Given the description of an element on the screen output the (x, y) to click on. 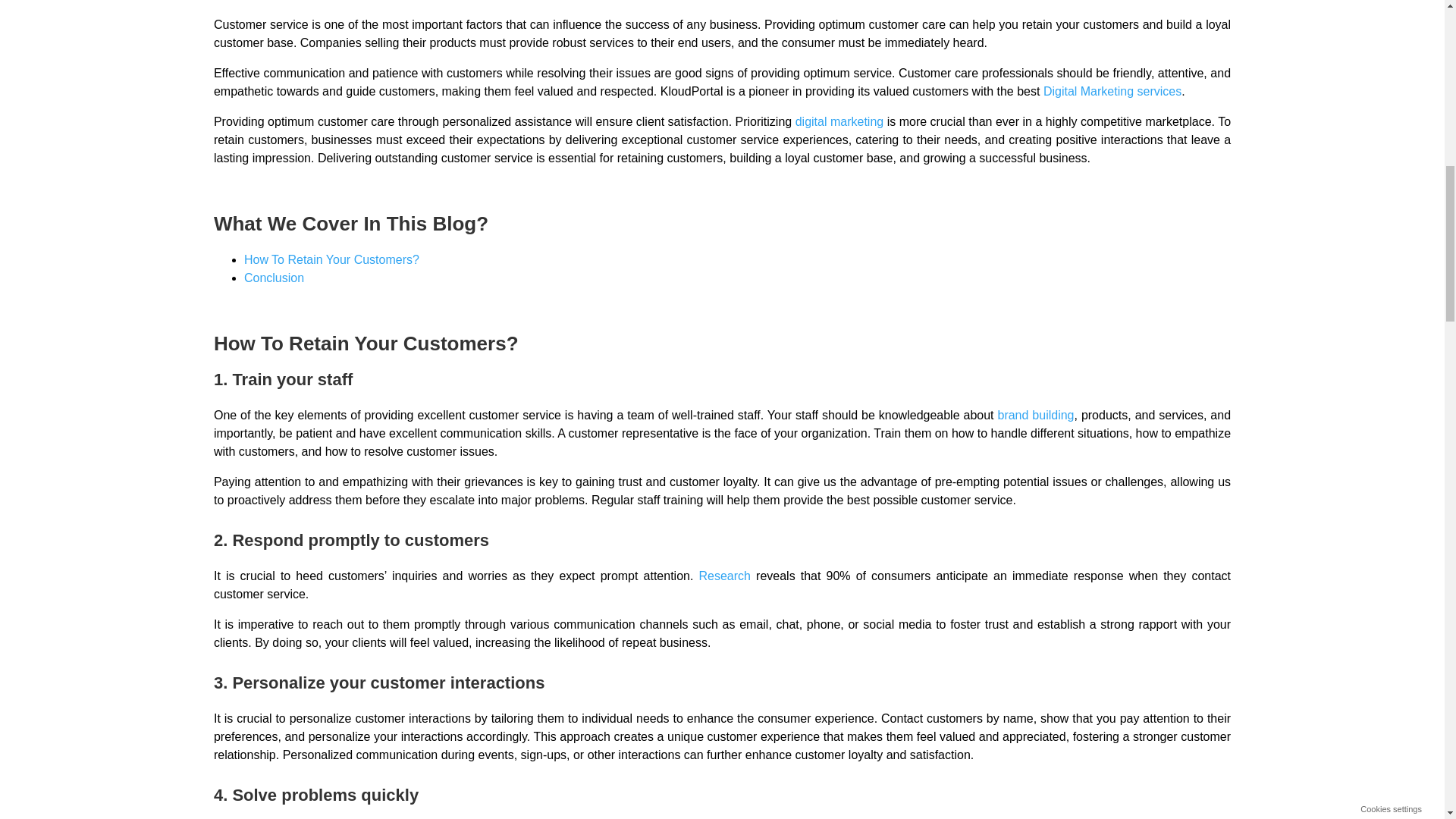
Digital Marketing services (1111, 91)
